Given the description of an element on the screen output the (x, y) to click on. 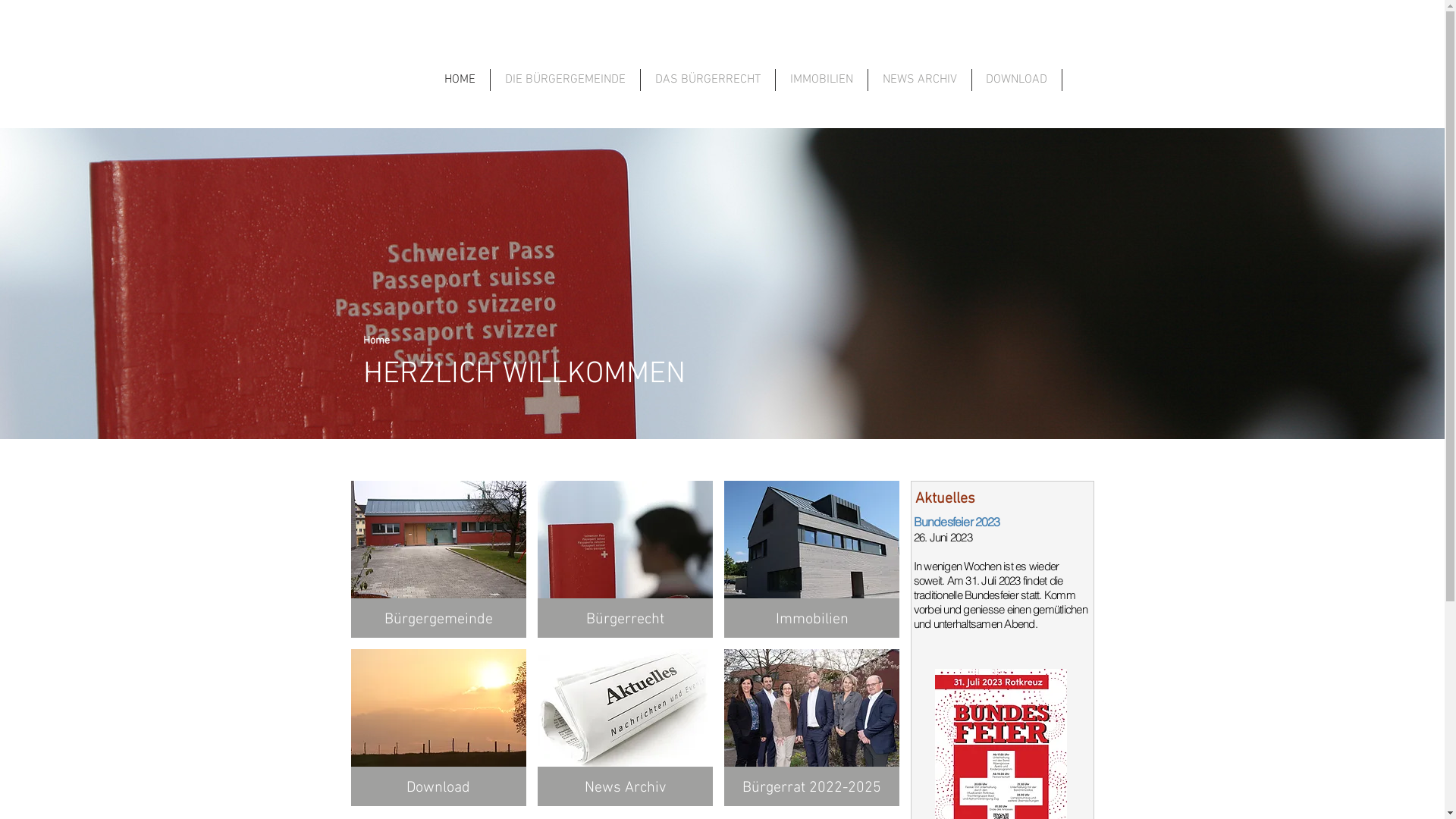
News Archiv Element type: text (624, 727)
DOWNLOAD Element type: text (1016, 80)
NEWS ARCHIV Element type: text (918, 80)
Immobilien Element type: text (811, 558)
IMMOBILIEN Element type: text (820, 80)
HOME Element type: text (459, 80)
Download Element type: text (437, 727)
Home   Element type: text (377, 340)
